Given the description of an element on the screen output the (x, y) to click on. 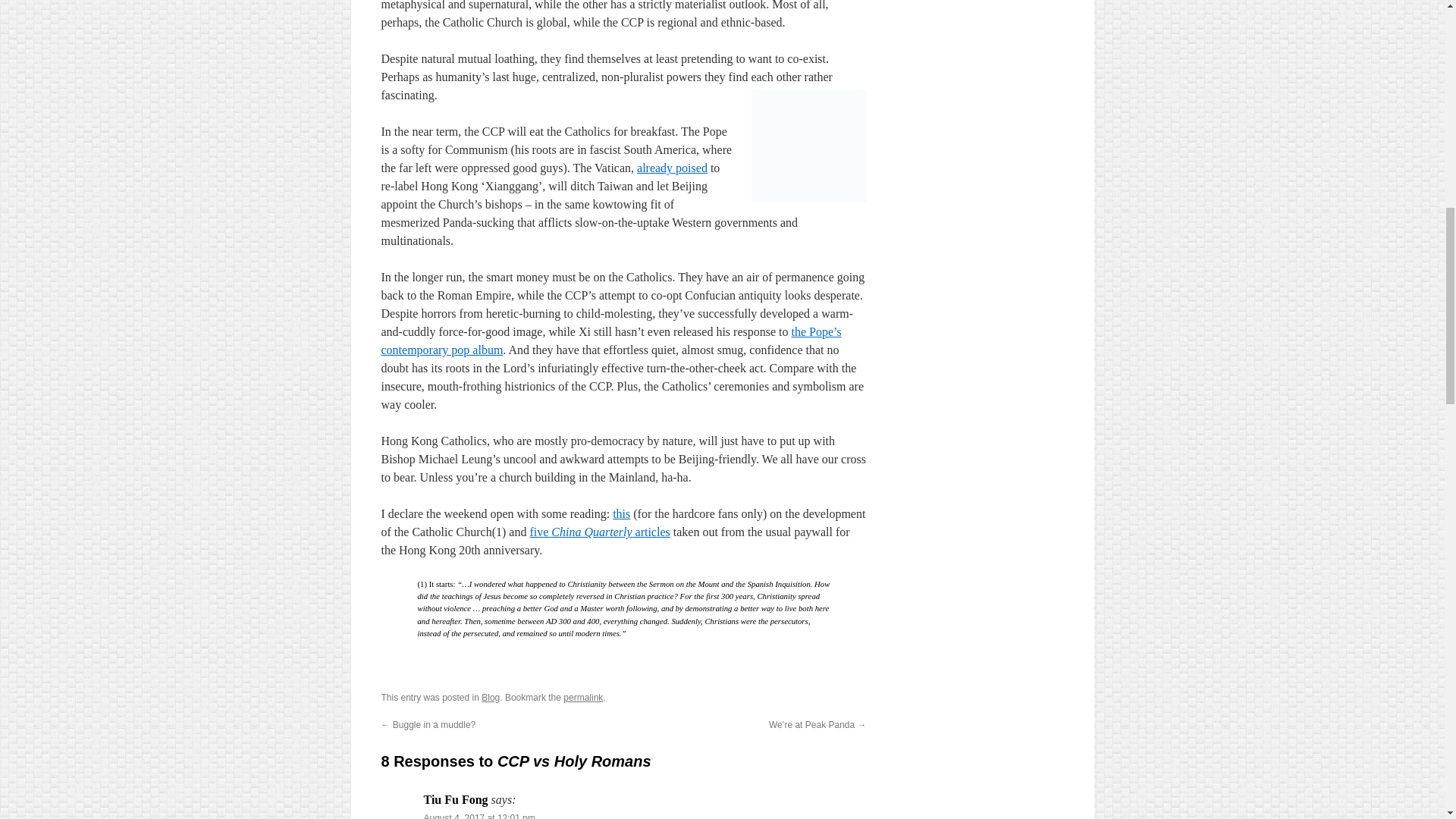
five China Quarterly articles (599, 531)
permalink (582, 697)
Blog (490, 697)
this (621, 513)
Permalink to CCP vs Holy Romans (582, 697)
August 4, 2017 at 12:01 pm (478, 816)
already poised (672, 167)
